Given the description of an element on the screen output the (x, y) to click on. 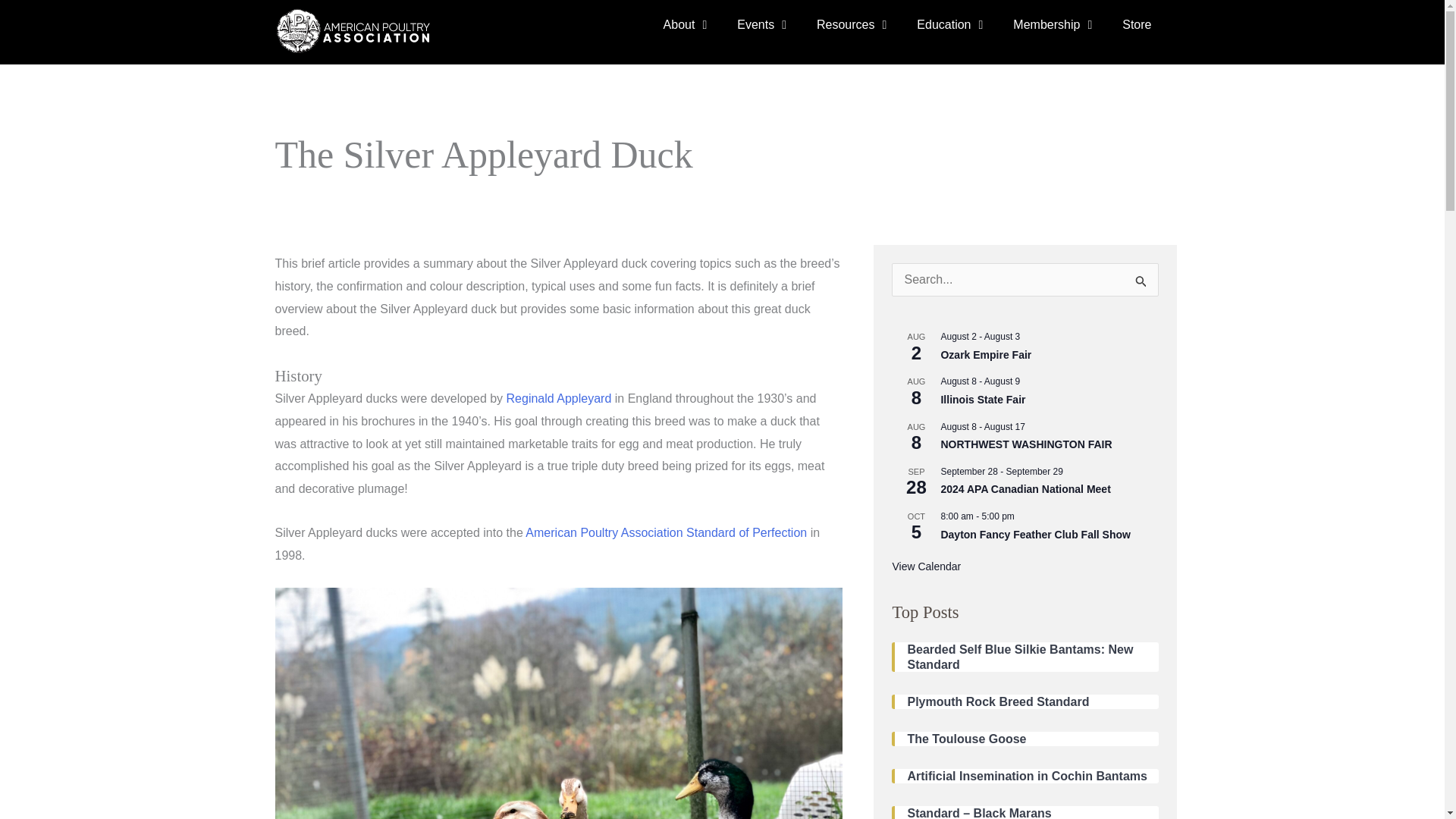
About (684, 24)
Dayton Fancy Feather Club Fall Show (1034, 533)
Events (762, 24)
NORTHWEST WASHINGTON FAIR (1026, 444)
Ozark Empire Fair (985, 354)
View more events. (925, 566)
2024 APA Canadian National Meet (1024, 489)
Illinois State Fair (982, 399)
Resources (851, 24)
